Given the description of an element on the screen output the (x, y) to click on. 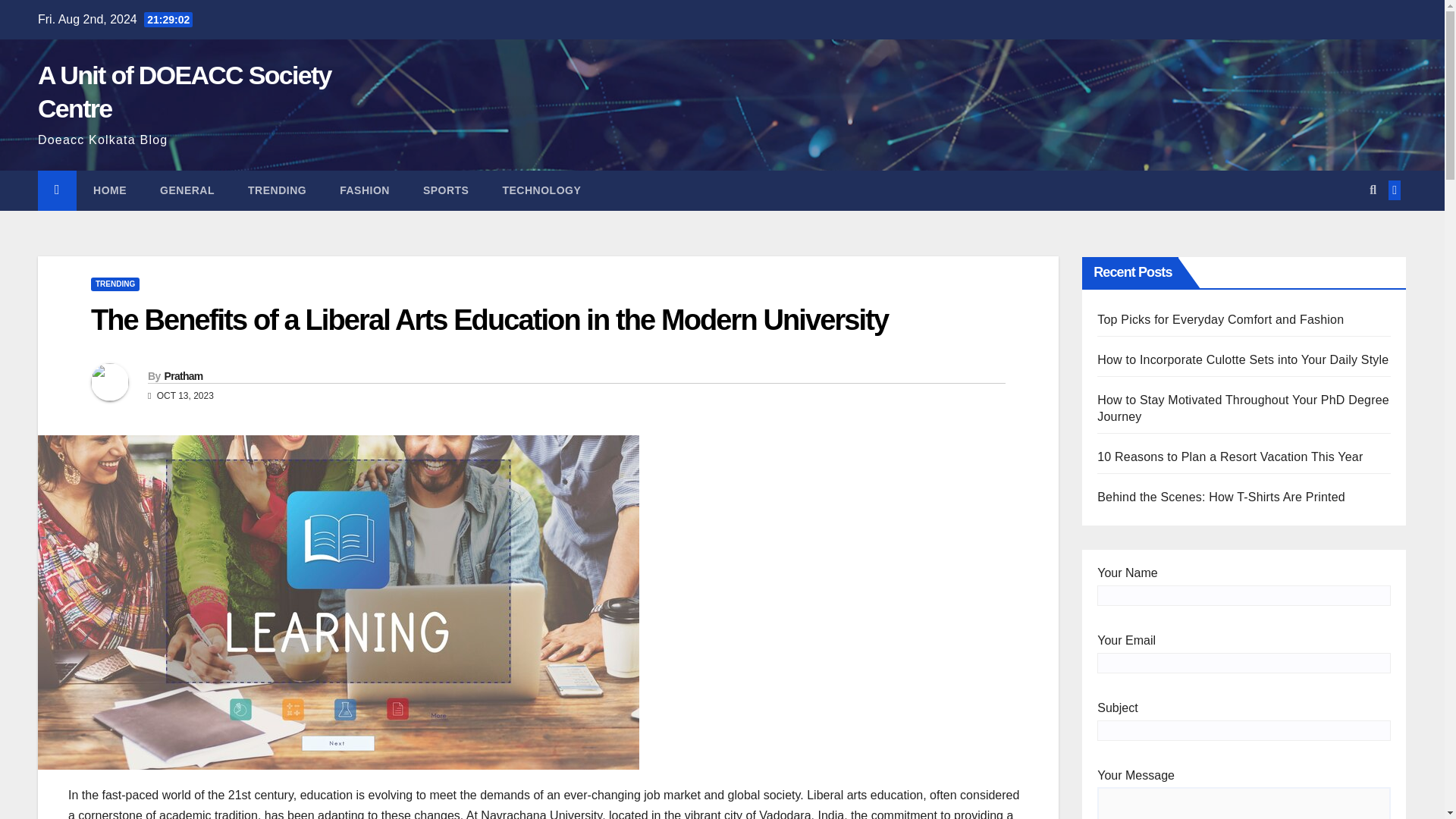
TRENDING (277, 189)
FASHION (364, 189)
General (186, 189)
Technology (540, 189)
TECHNOLOGY (540, 189)
Trending (277, 189)
SPORTS (446, 189)
Fashion (364, 189)
Pratham (182, 376)
HOME (109, 189)
Home (109, 189)
TRENDING (114, 284)
Sports (446, 189)
